Given the description of an element on the screen output the (x, y) to click on. 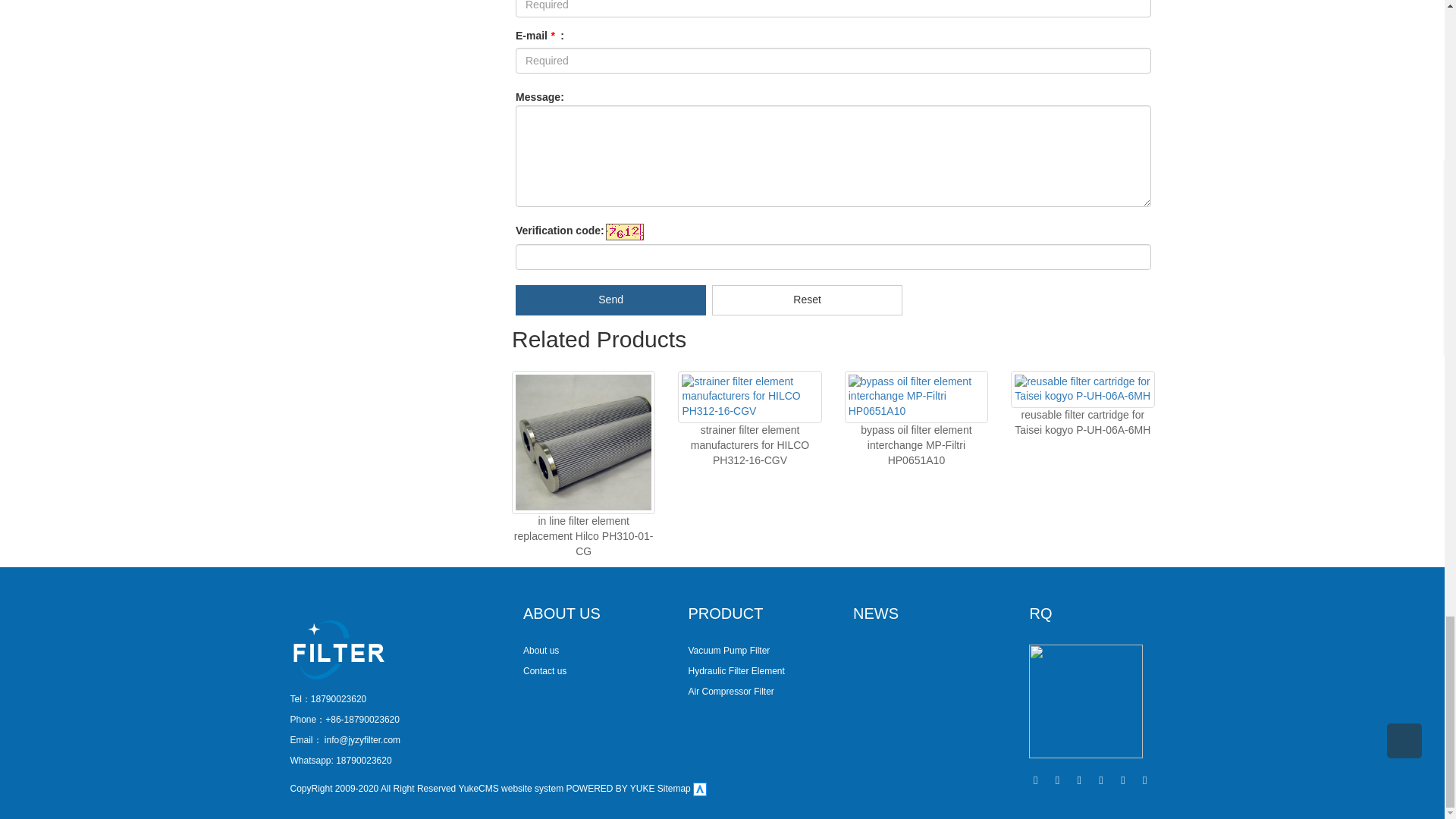
strainer filter element manufacturers for HILCO PH312-16-CGV (749, 445)
bypass oil filter element interchange MP-Filtri  HP0651A10 (915, 445)
 reusable filter cartridge for Taisei kogyo P-UH-06A-6MH (1082, 421)
  in line filter element  replacement Hilco PH310-01-CG (583, 536)
